Given the description of an element on the screen output the (x, y) to click on. 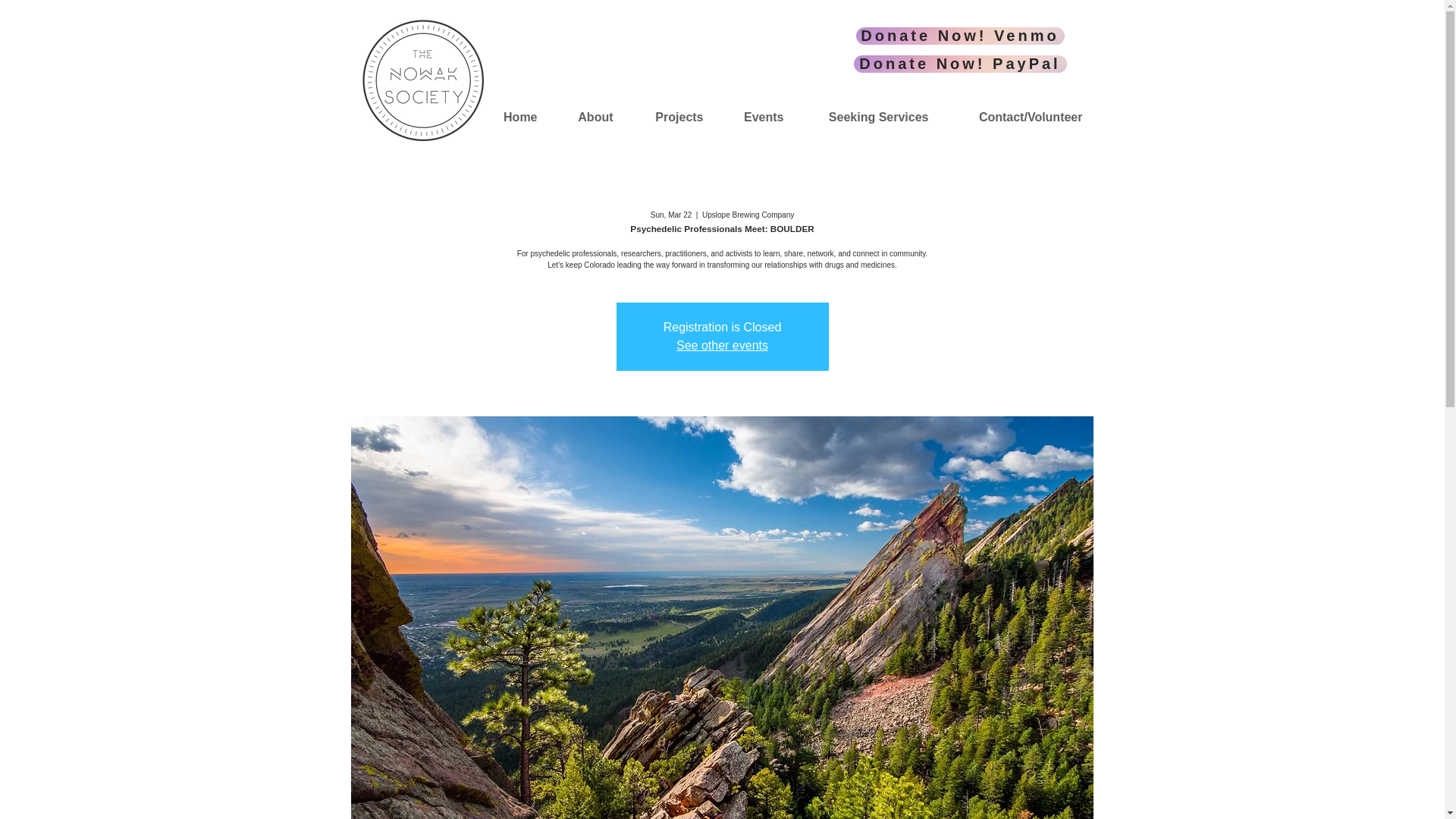
See other events (722, 345)
Donate Now! Venmo (960, 36)
Home (510, 116)
link to homepage (421, 80)
Seeking Services (866, 116)
Donate Now! PayPal (960, 63)
